Given the description of an element on the screen output the (x, y) to click on. 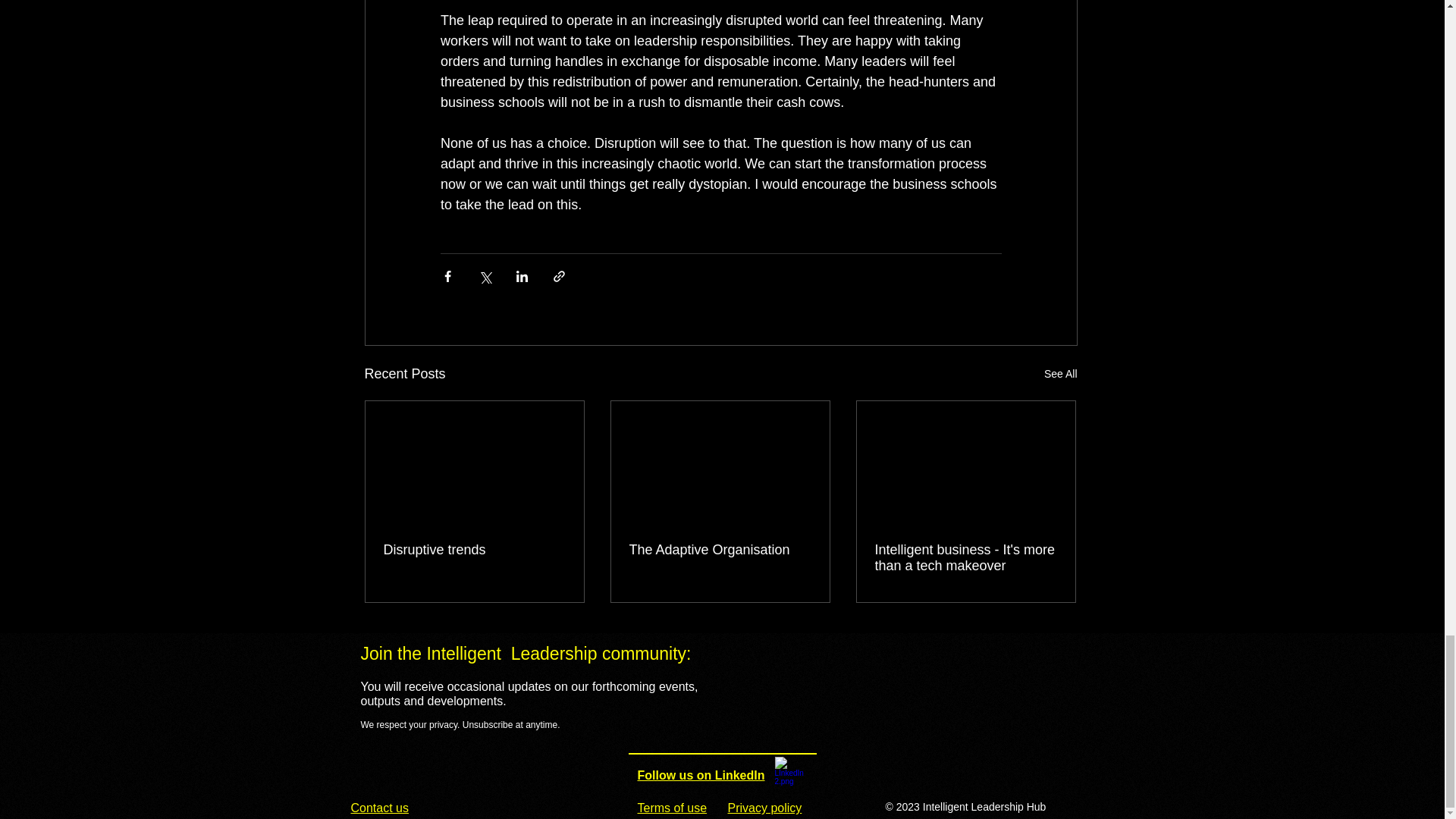
Disruptive trends (475, 549)
Terms of use (671, 807)
Follow us on LinkedIn (700, 775)
The Adaptive Organisation (719, 549)
Privacy policy (765, 807)
Intelligent business - It's more than a tech makeover (966, 558)
See All (1060, 373)
Contact us (378, 807)
